Given the description of an element on the screen output the (x, y) to click on. 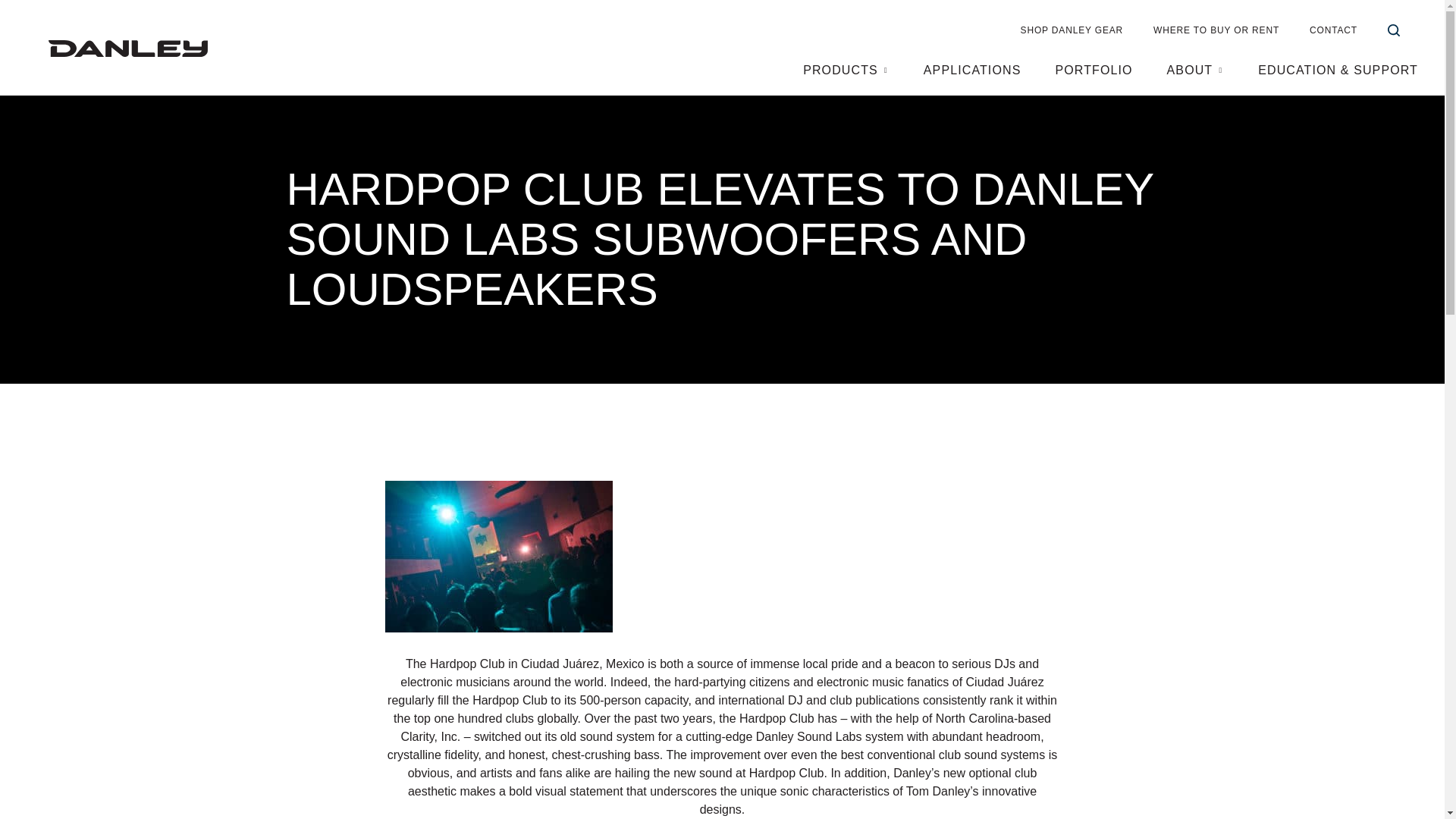
APPLICATIONS (972, 70)
SHOP DANLEY GEAR (1072, 29)
PRODUCTS (840, 70)
PORTFOLIO (1093, 70)
ABOUT (1189, 70)
WHERE TO BUY OR RENT (1216, 29)
CONTACT (1332, 29)
